Given the description of an element on the screen output the (x, y) to click on. 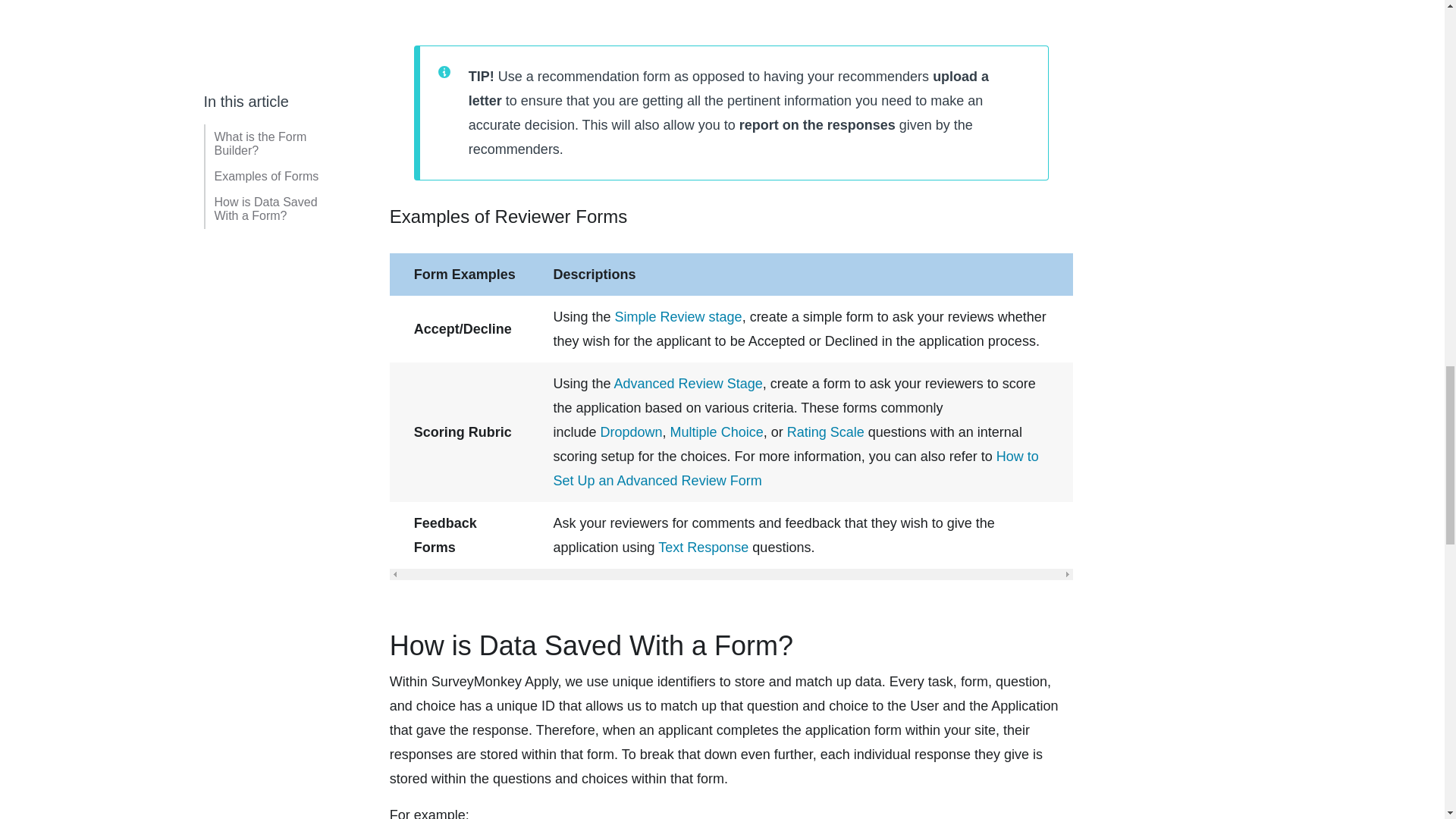
Dropdown (630, 432)
Multiple Choice (715, 432)
Simple Review stage (678, 316)
Rating Scale (825, 432)
How to Set Up an Advanced Review Form (796, 468)
Text Response (703, 547)
Advanced Review Stage (688, 383)
